Given the description of an element on the screen output the (x, y) to click on. 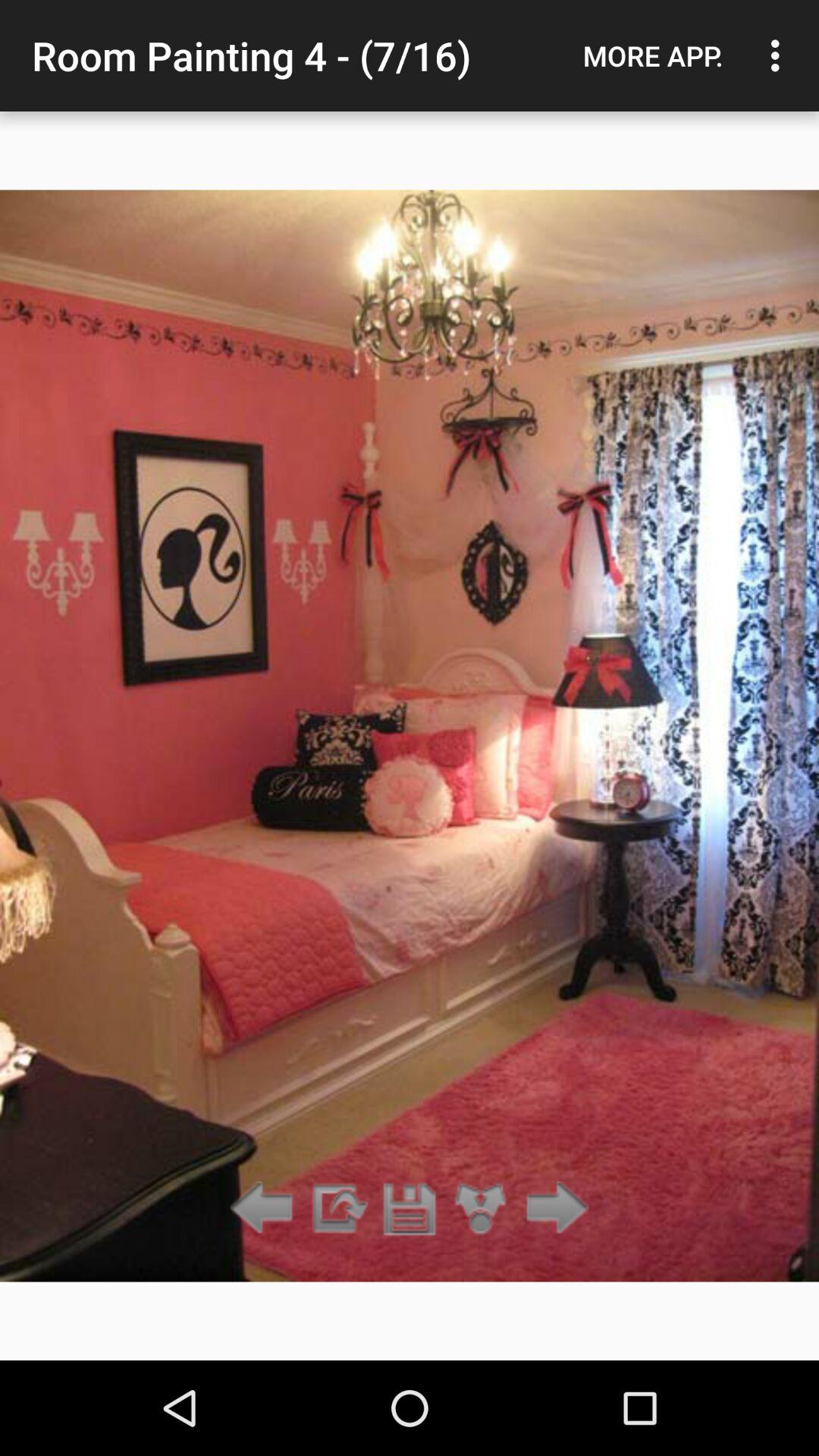
press the more app. item (653, 55)
